Given the description of an element on the screen output the (x, y) to click on. 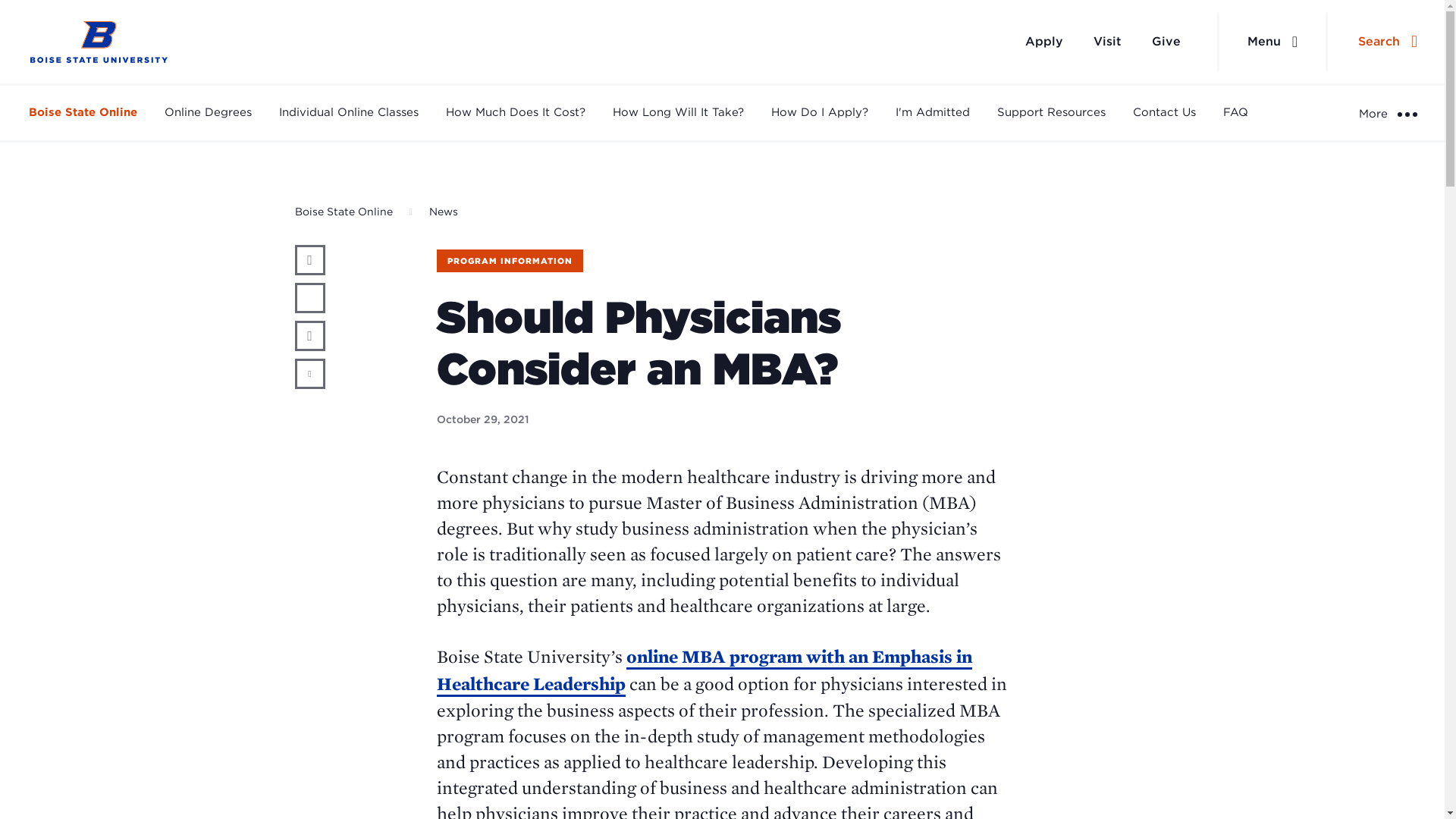
Boise State Online (342, 211)
Share through Email (309, 373)
Individual Online Classes (349, 112)
Apply (1044, 41)
Share on Twitter (309, 297)
I'm Admitted (932, 112)
PROGRAM INFORMATION (509, 260)
Boise State Online (82, 112)
Give (1166, 41)
